Given the description of an element on the screen output the (x, y) to click on. 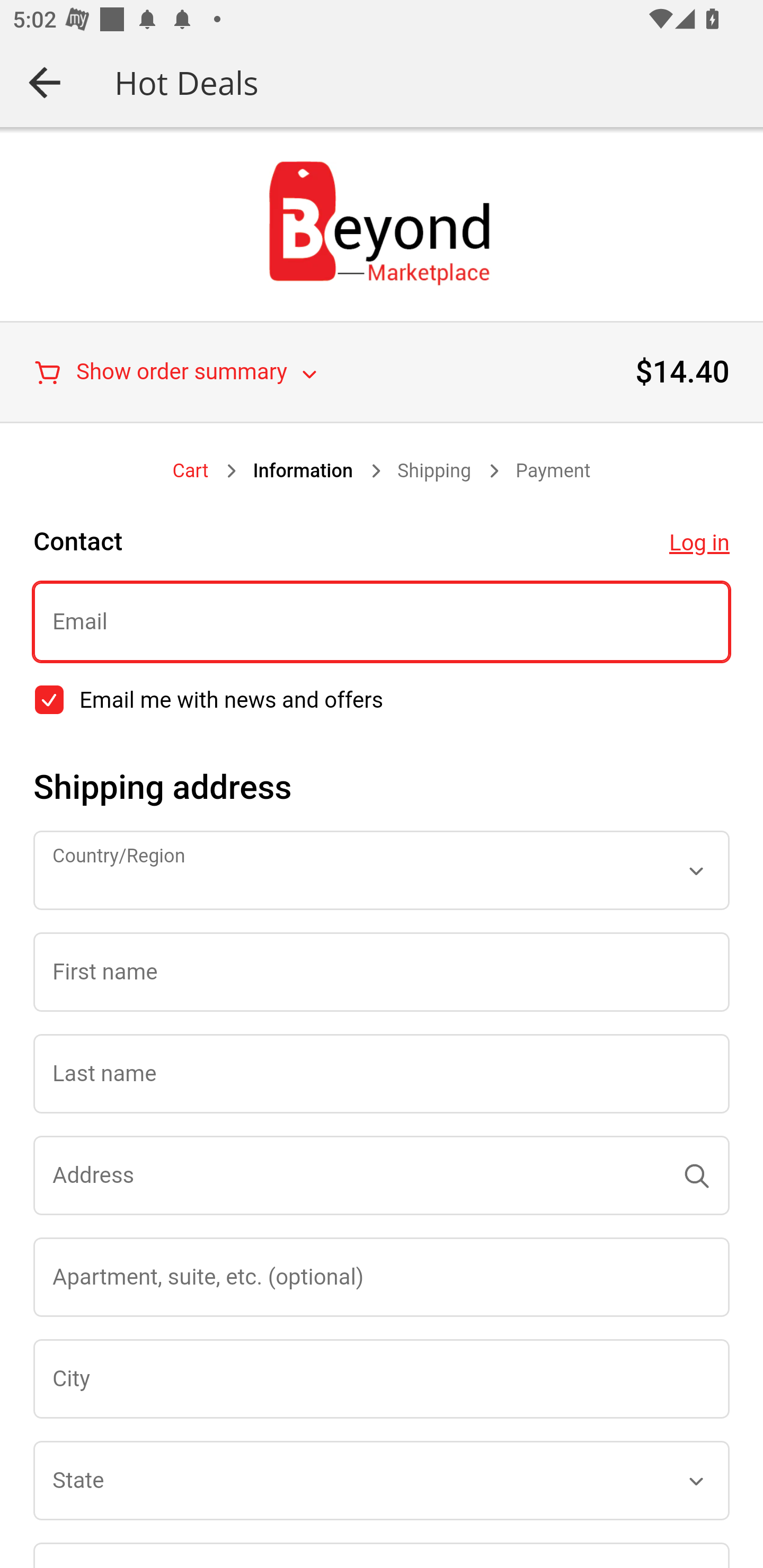
Navigate up (44, 82)
brandsandbeyond (381, 222)
Show order summary $14.40 (381, 372)
Breadcrumb Cart Cart Information Shipping Payment (381, 471)
Cart (190, 470)
Log in (699, 543)
Email me with news and offers (48, 699)
Country/Region (381, 870)
State (381, 1479)
